Given the description of an element on the screen output the (x, y) to click on. 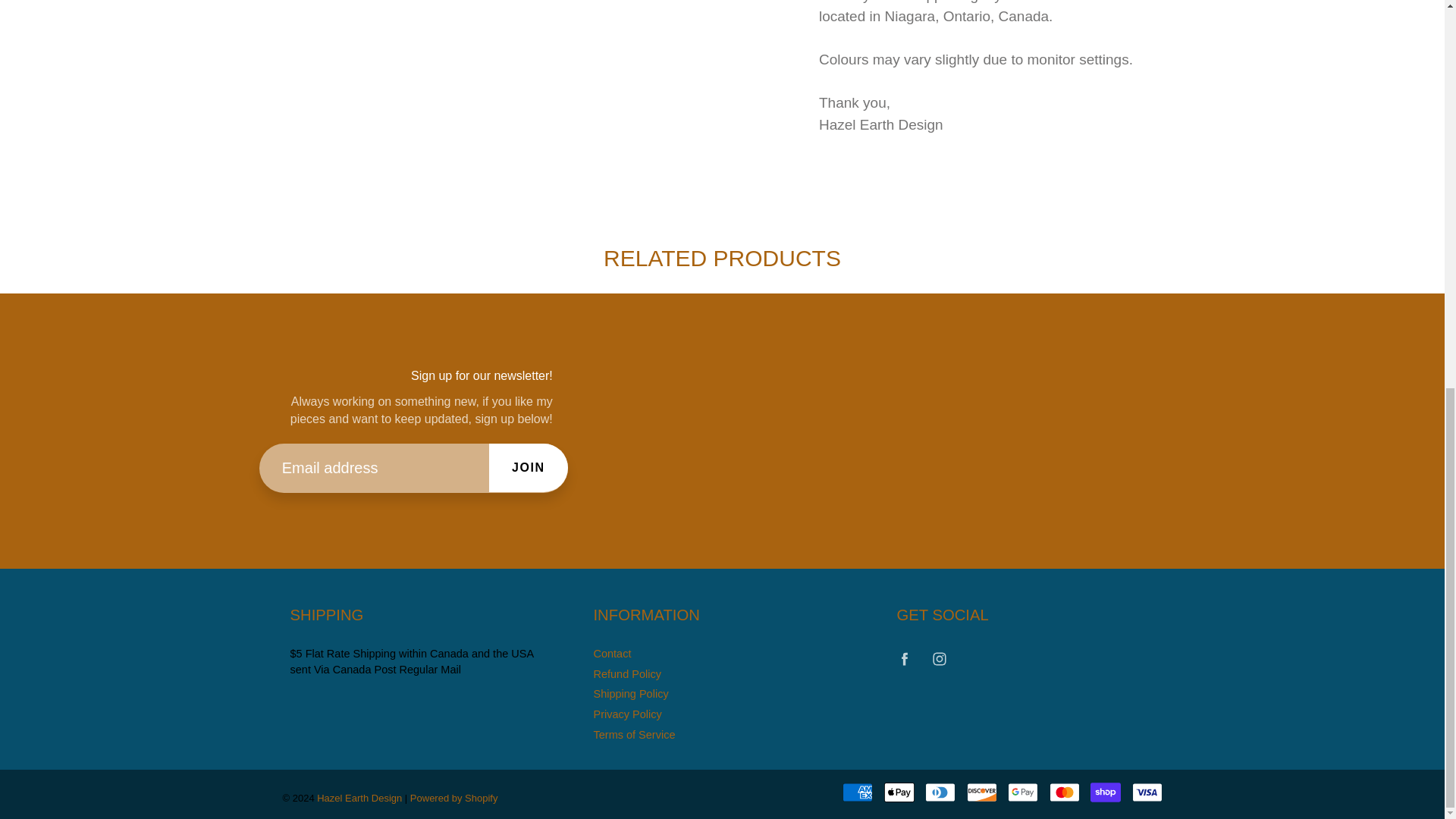
Facebook (904, 659)
Google Pay (1022, 792)
Discover (981, 792)
Mastercard (1064, 792)
Visa (1146, 792)
Apple Pay (898, 792)
Shop Pay (1105, 792)
American Express (857, 792)
Instagram (939, 659)
Diners Club (939, 792)
